Given the description of an element on the screen output the (x, y) to click on. 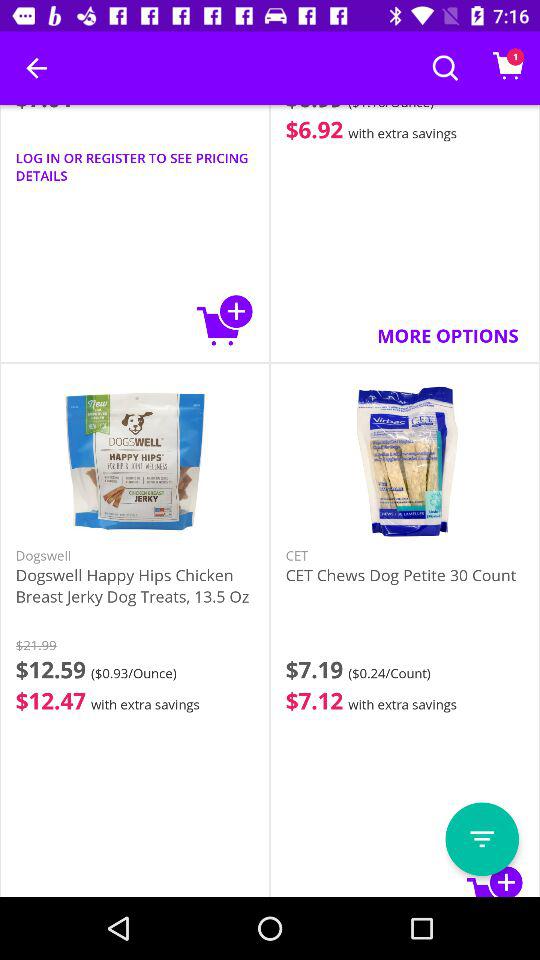
add item to shopping cart (225, 319)
